Given the description of an element on the screen output the (x, y) to click on. 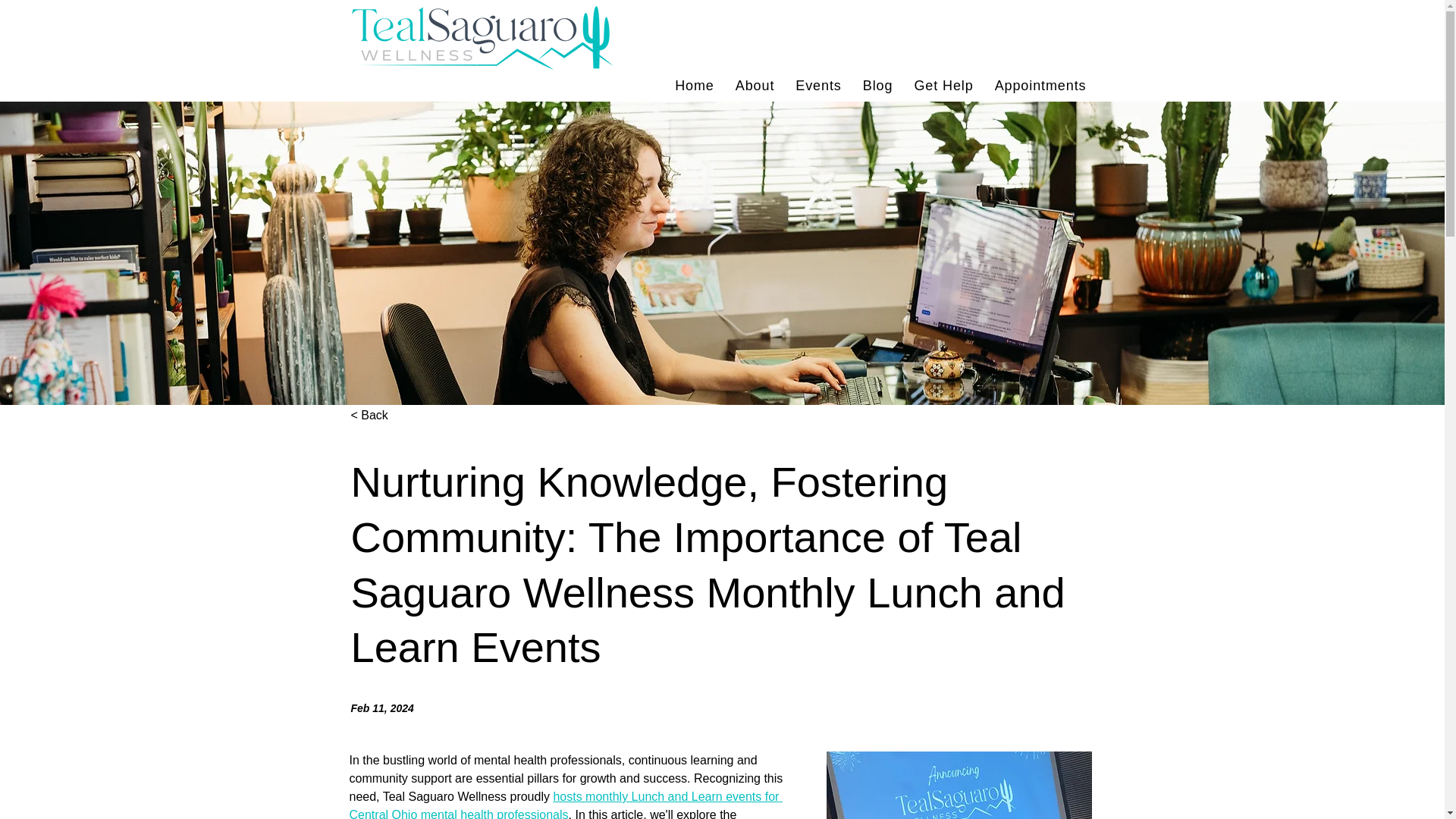
Get Help (942, 85)
About (755, 85)
Appointments (721, 85)
Events (1040, 85)
Home (817, 85)
Blog (694, 85)
